Given the description of an element on the screen output the (x, y) to click on. 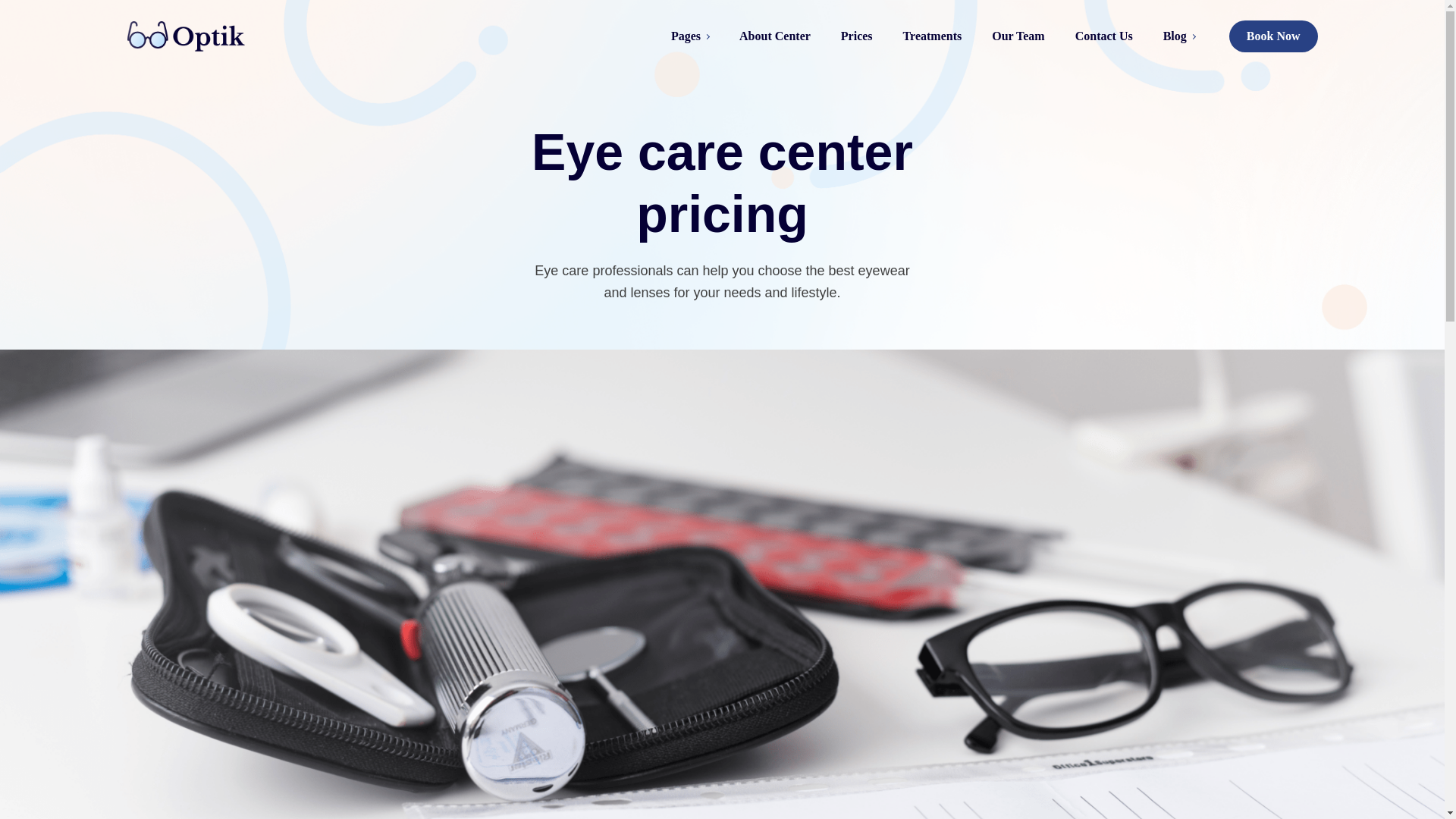
Prices (856, 35)
Book Now (1272, 35)
Contact Us (1103, 35)
About Center (774, 35)
Treatments (932, 35)
Pages (689, 35)
Blog (1178, 35)
Our Team (1017, 35)
